Given the description of an element on the screen output the (x, y) to click on. 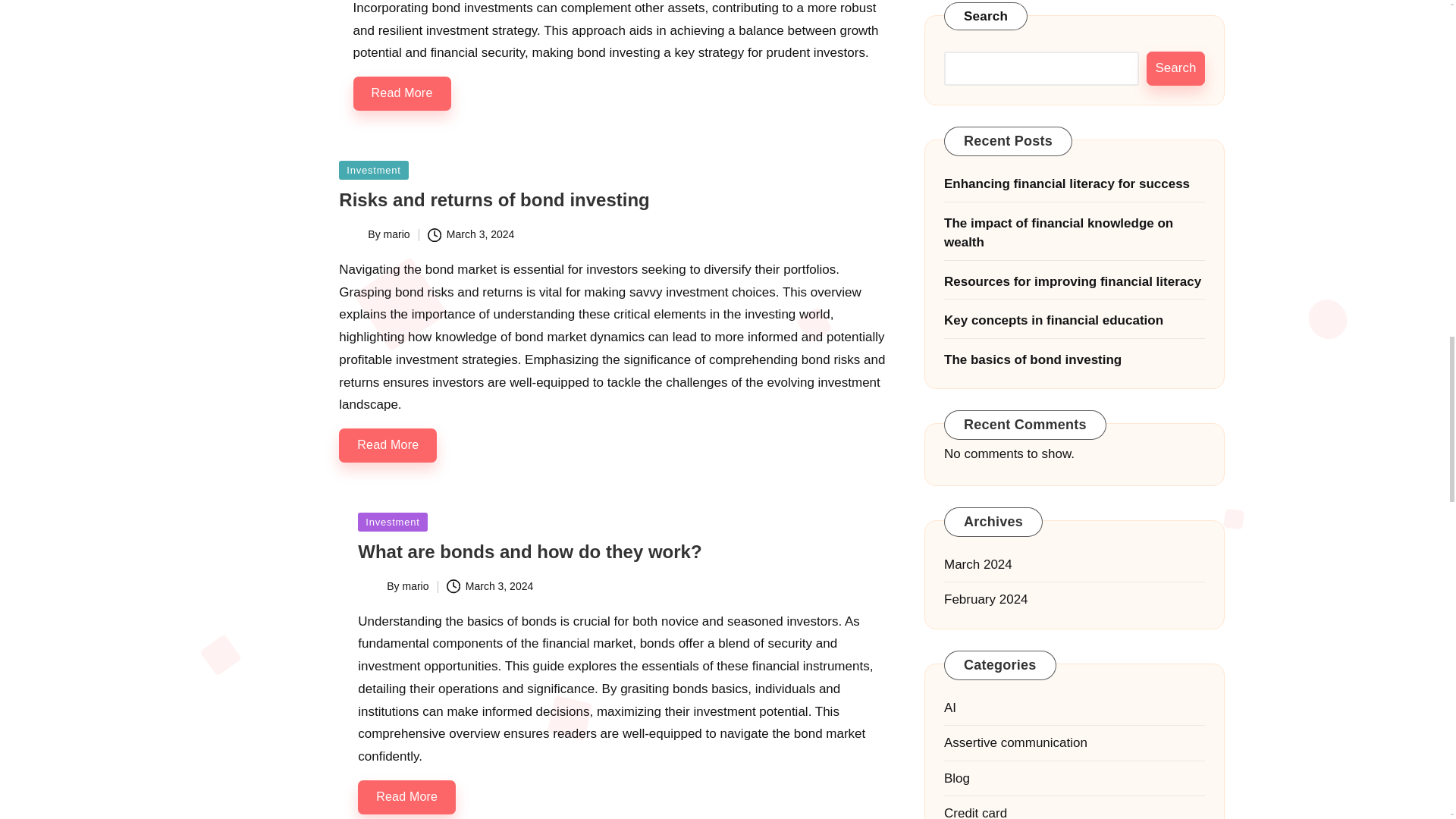
View all posts by mario (414, 585)
Read More (402, 93)
Risks and returns of bond investing (494, 199)
What are bonds and how do they work? (529, 551)
View all posts by mario (397, 234)
